Given the description of an element on the screen output the (x, y) to click on. 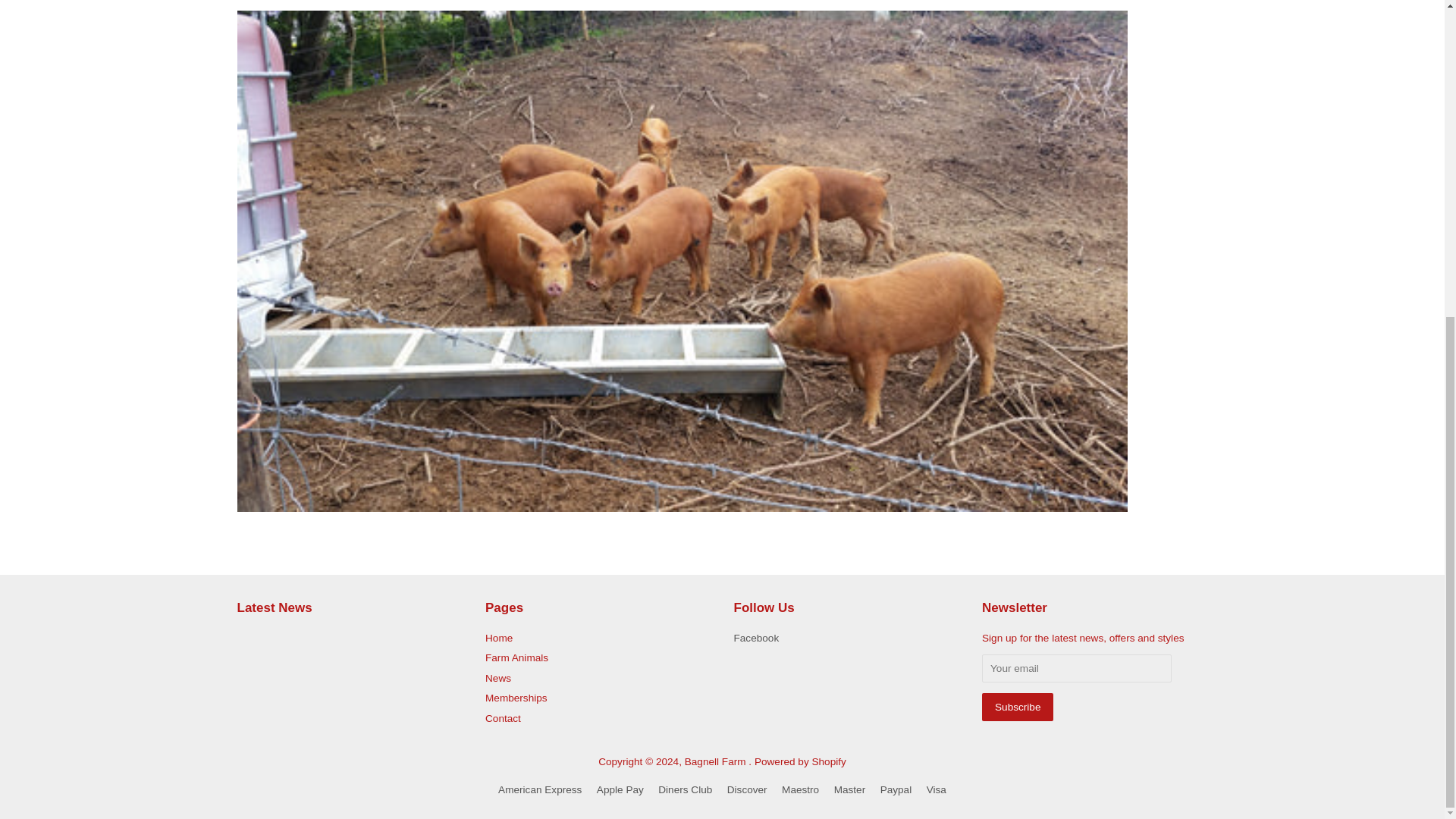
Memberships (515, 697)
Home (498, 637)
News (497, 677)
Contact (502, 717)
Powered by Shopify (799, 761)
Farm Animals (516, 657)
Latest News (273, 607)
Subscribe (1016, 706)
Subscribe (1016, 706)
Facebook (755, 637)
Bagnell Farm (716, 761)
Bagnell Farm  on Facebook (755, 637)
